Given the description of an element on the screen output the (x, y) to click on. 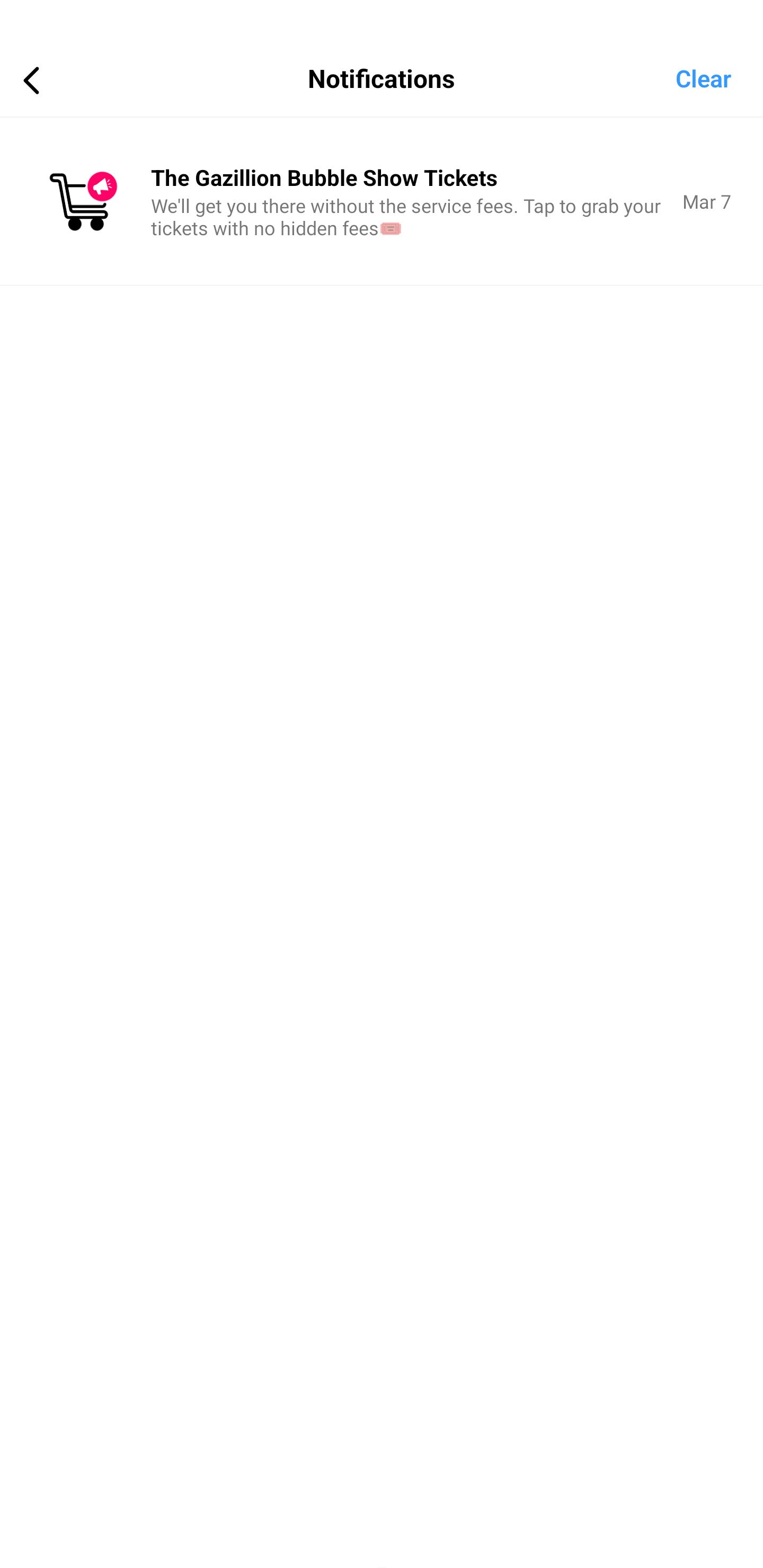
Clear (719, 77)
